Given the description of an element on the screen output the (x, y) to click on. 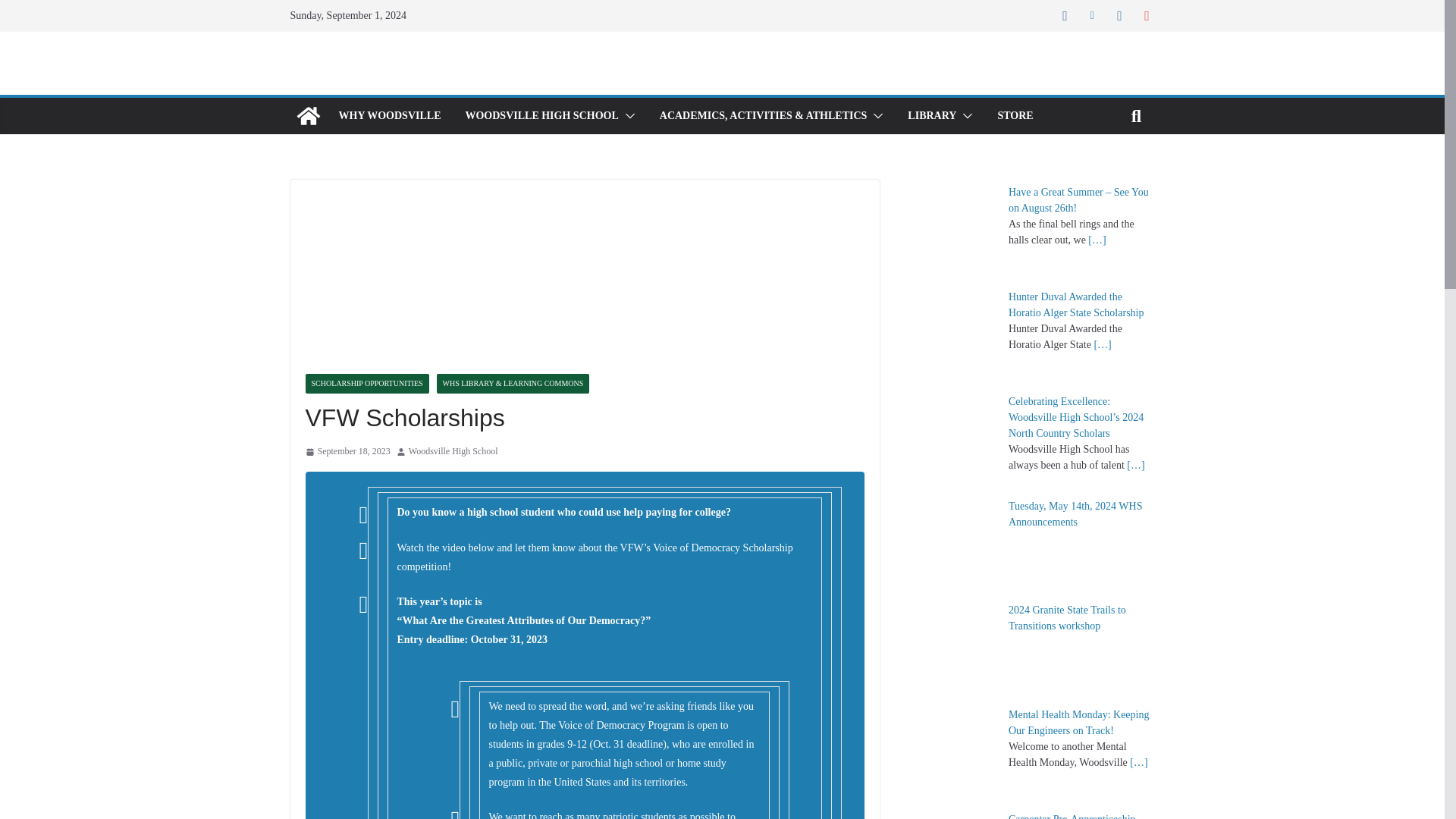
Woodsville High School (453, 451)
WHY WOODSVILLE (389, 115)
10:14 am (347, 451)
WOODSVILLE HIGH SCHOOL (540, 115)
